Given the description of an element on the screen output the (x, y) to click on. 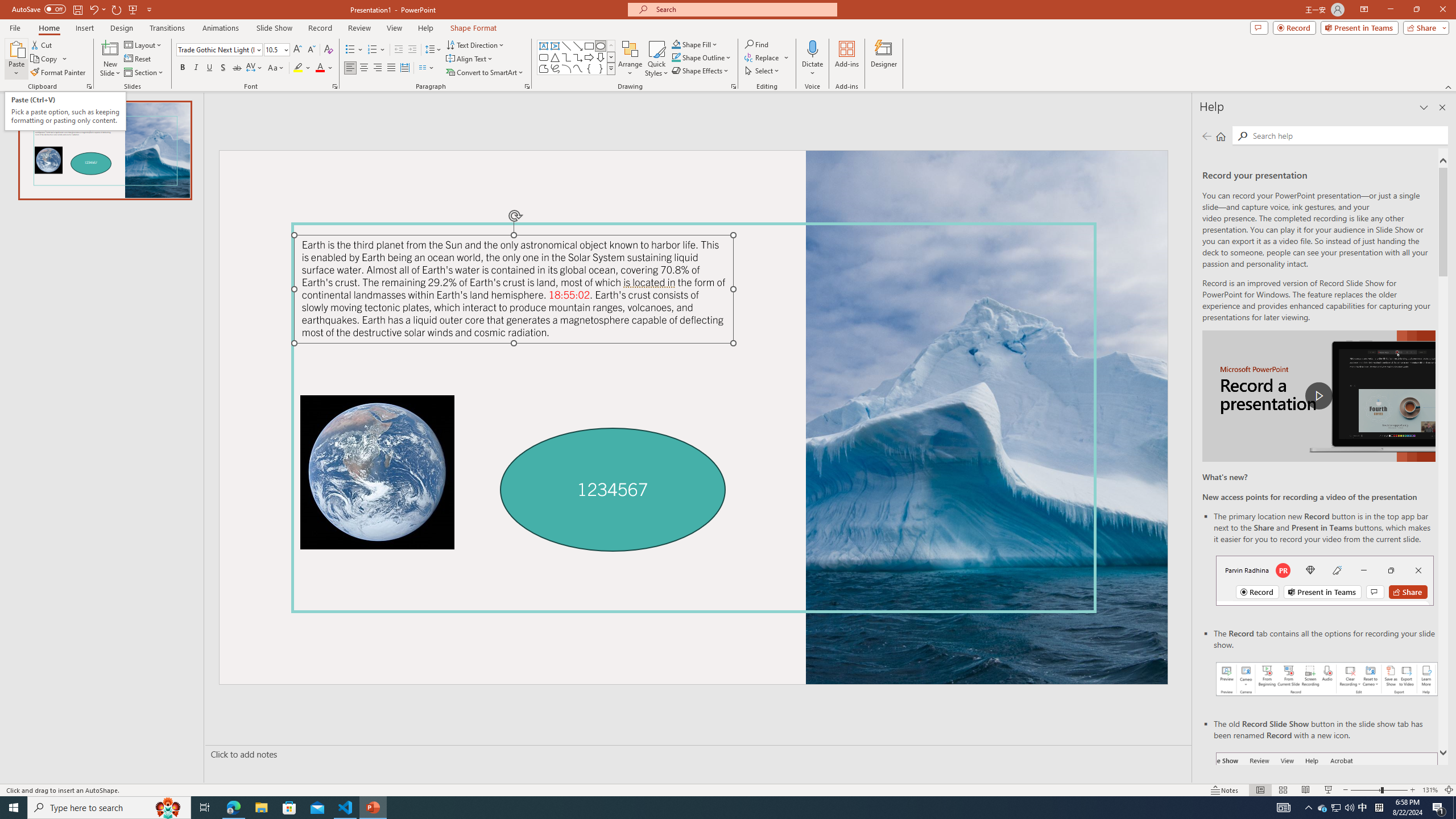
Record button in top bar (1324, 580)
